Given the description of an element on the screen output the (x, y) to click on. 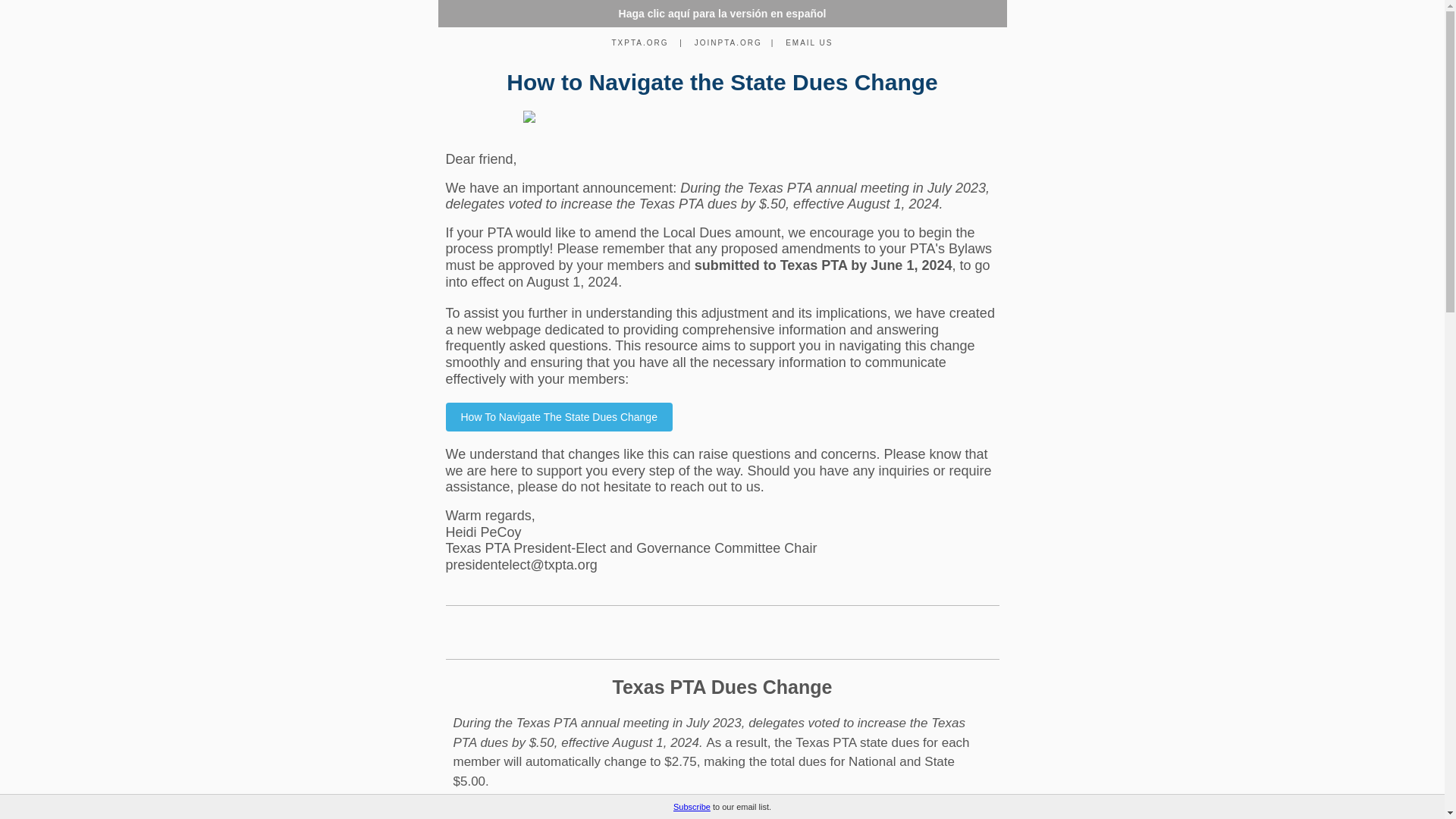
Subscribe (691, 806)
EMAIL US (808, 40)
JOINPTA.ORG (728, 40)
TXPTA.ORG (640, 40)
How To Navigate The State Dues Change (558, 416)
